Given the description of an element on the screen output the (x, y) to click on. 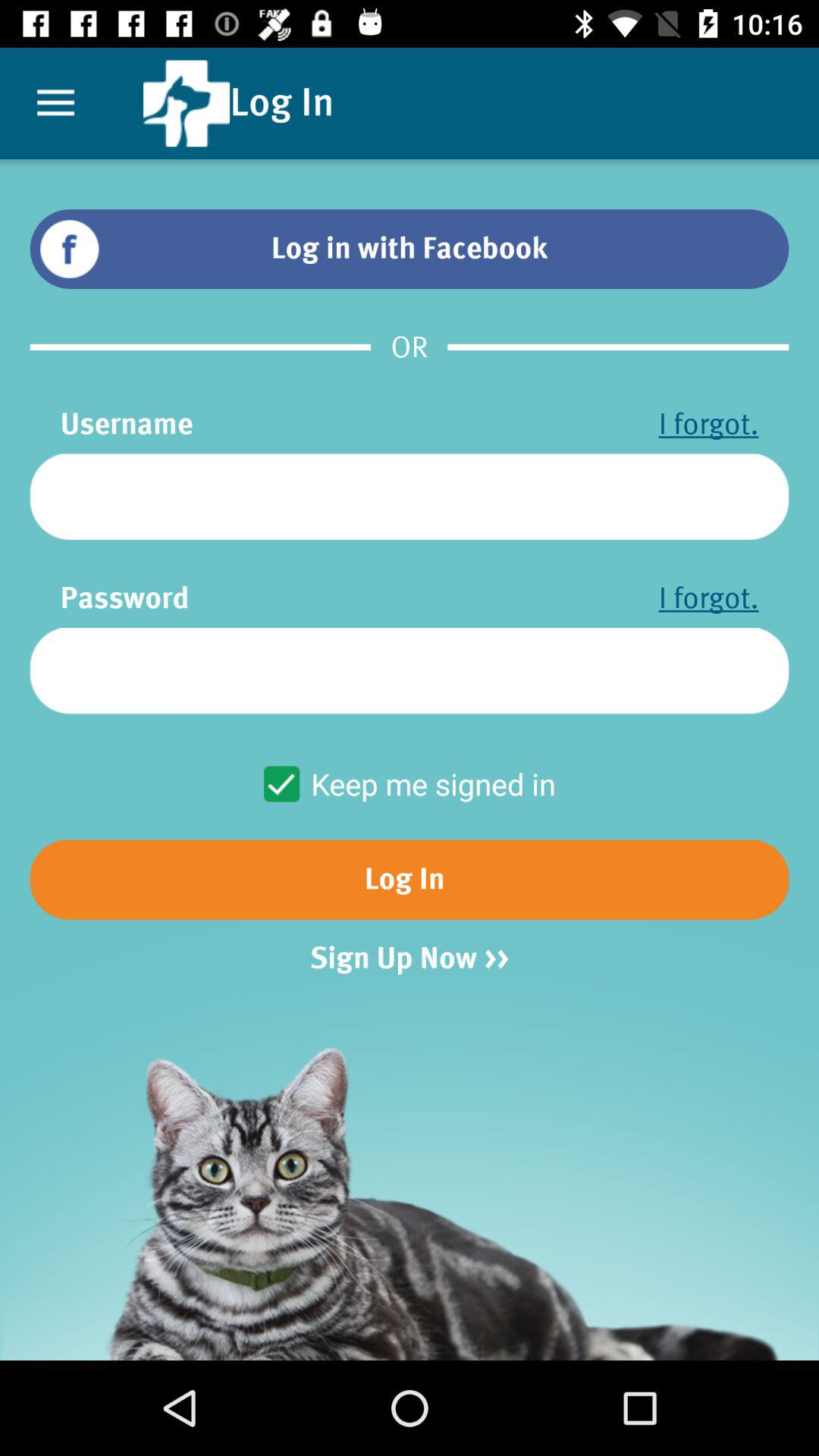
launch the item above the i forgot. icon (409, 496)
